Given the description of an element on the screen output the (x, y) to click on. 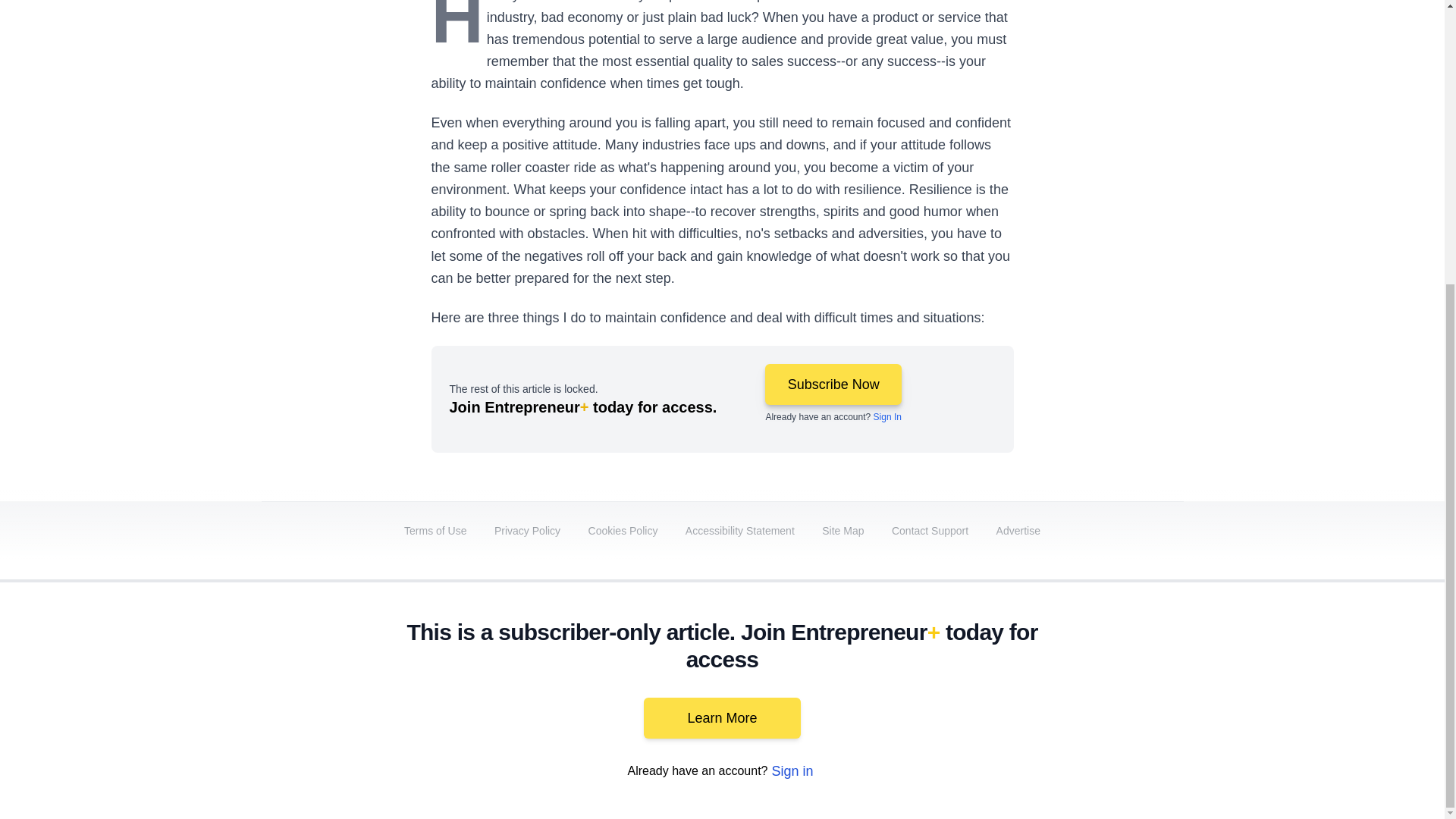
facebook (866, 691)
twitter (909, 691)
instagram (1037, 691)
tiktok (1079, 691)
snapchat (1121, 691)
youtube (994, 691)
linkedin (952, 691)
rss (1164, 691)
